Given the description of an element on the screen output the (x, y) to click on. 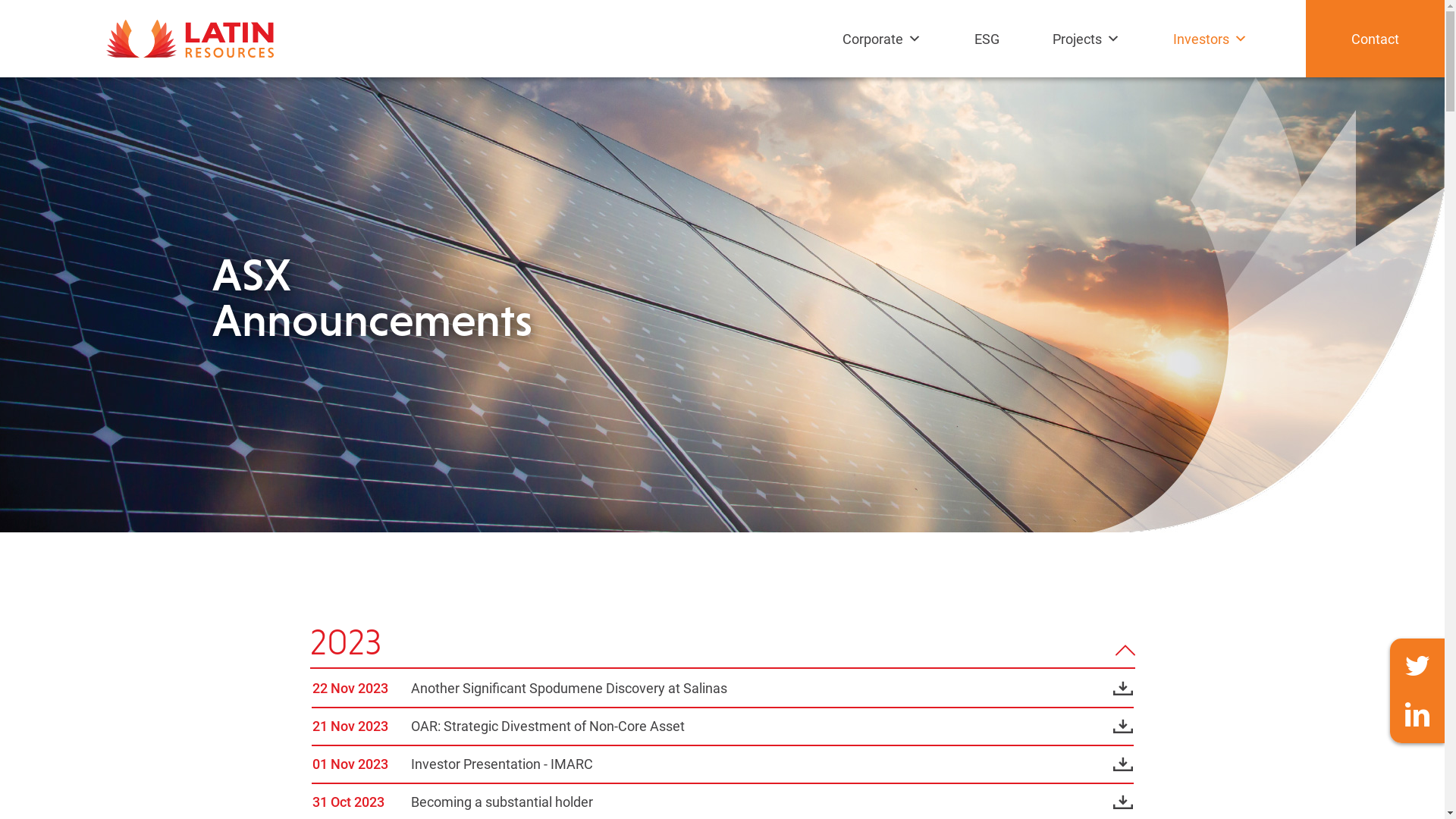
Corporate Element type: text (885, 53)
Another Significant Spodumene Discovery at Salinas Element type: text (771, 688)
OAR: Strategic Divestment of Non-Core Asset Element type: text (771, 726)
Projects Element type: text (1089, 53)
Skip to primary navigation Element type: text (0, 0)
Contact Element type: text (1374, 38)
Becoming a substantial holder Element type: text (771, 802)
ESG Element type: text (990, 53)
Investors Element type: text (1213, 53)
Investor Presentation - IMARC Element type: text (771, 764)
